Given the description of an element on the screen output the (x, y) to click on. 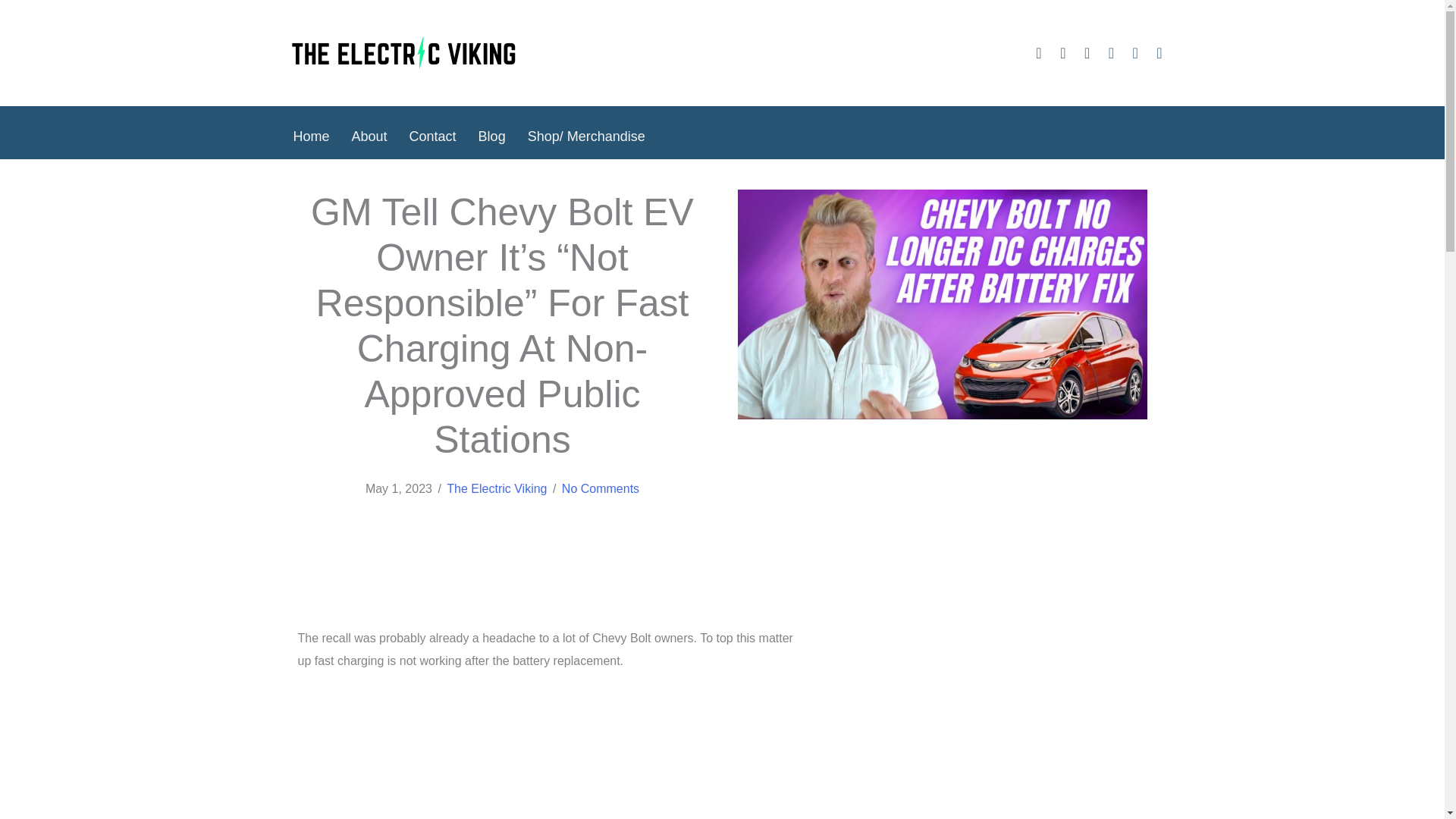
About (368, 136)
Contact (432, 136)
No Comments (600, 488)
Reduced size website logo (402, 52)
Home (310, 136)
Blog (491, 136)
The Electric Viking (496, 488)
